Given the description of an element on the screen output the (x, y) to click on. 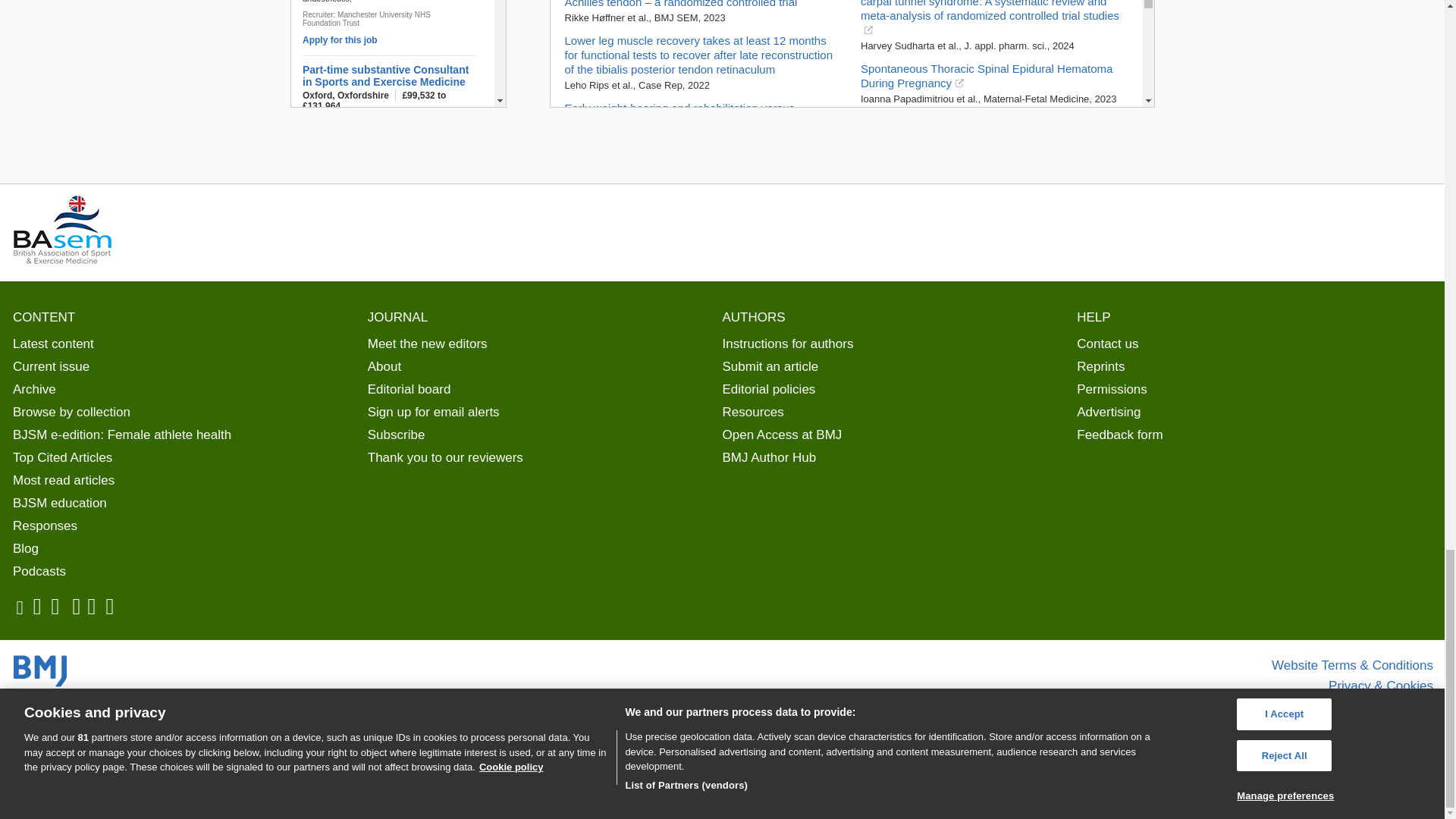
careers widget (397, 53)
